Given the description of an element on the screen output the (x, y) to click on. 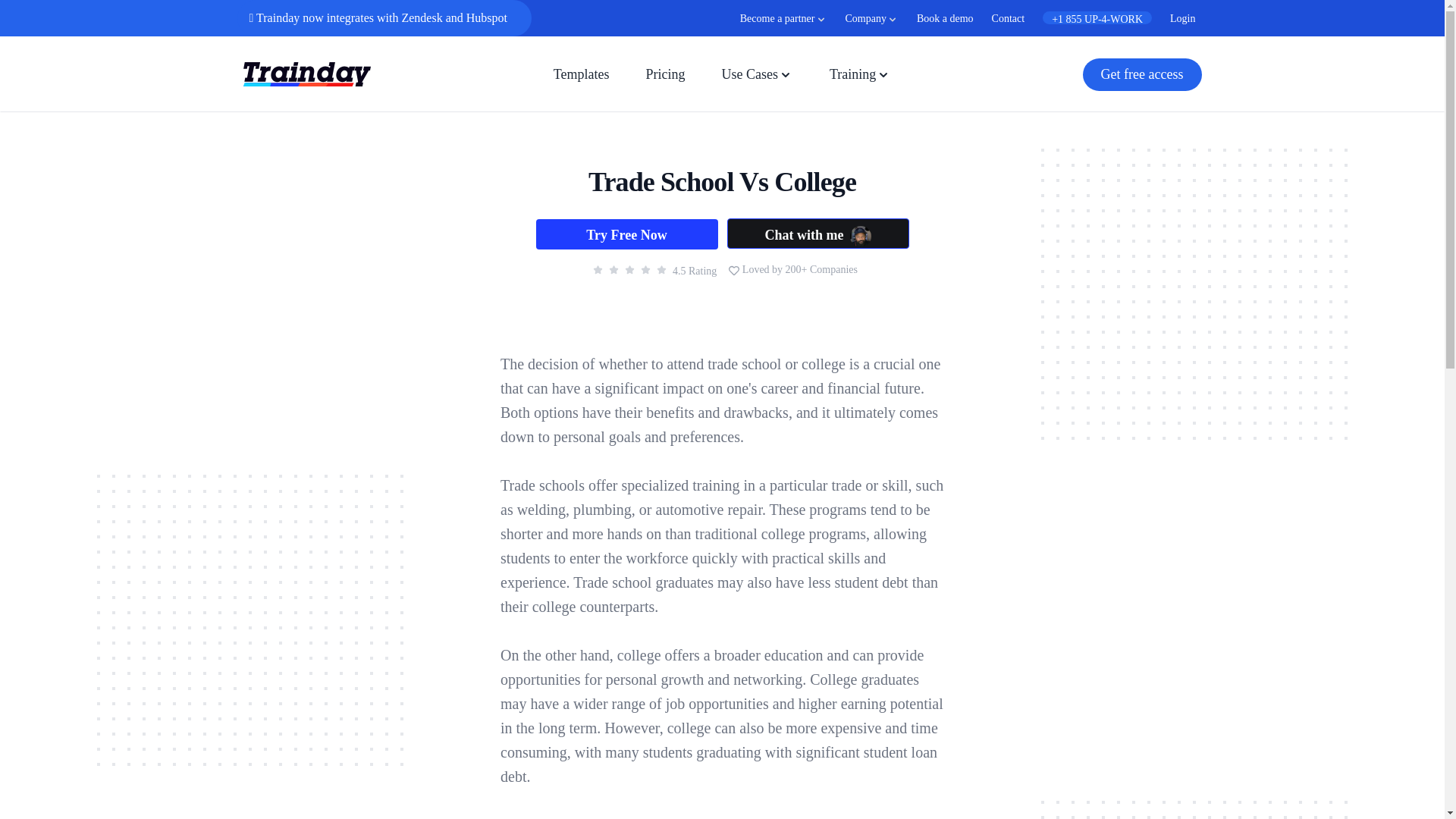
Training (860, 73)
Try Free Now (626, 234)
Book a demo (936, 17)
Become a partner (783, 18)
4.5 Rating (651, 268)
Chat with me (817, 233)
Use Cases (756, 73)
Pricing (664, 73)
Company (871, 18)
Login (1173, 17)
